Given the description of an element on the screen output the (x, y) to click on. 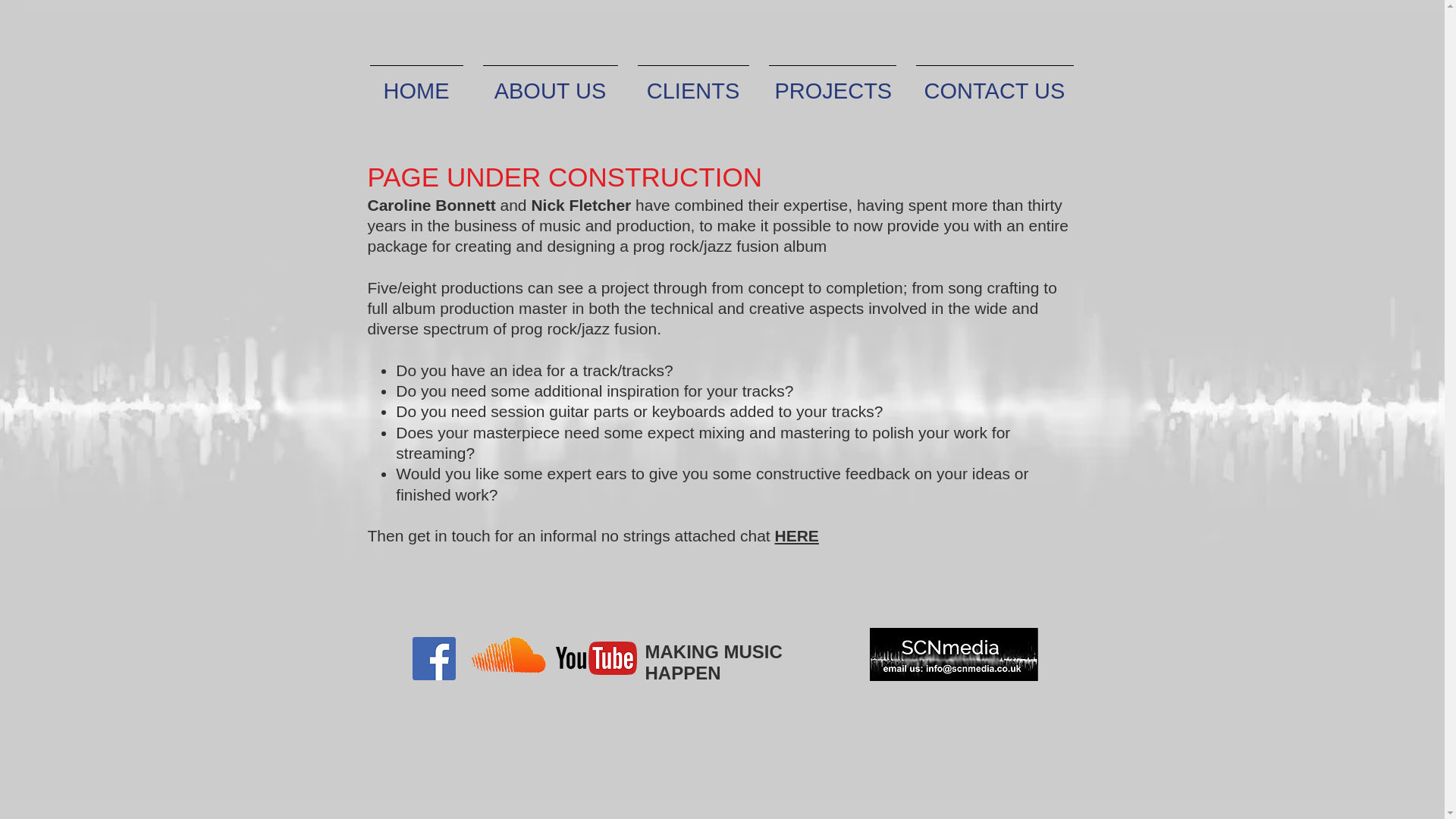
CONTACT US (994, 84)
CLIENTS (692, 84)
PROJECTS (831, 84)
ABOUT US (550, 84)
HOME (415, 84)
HERE (796, 535)
